Given the description of an element on the screen output the (x, y) to click on. 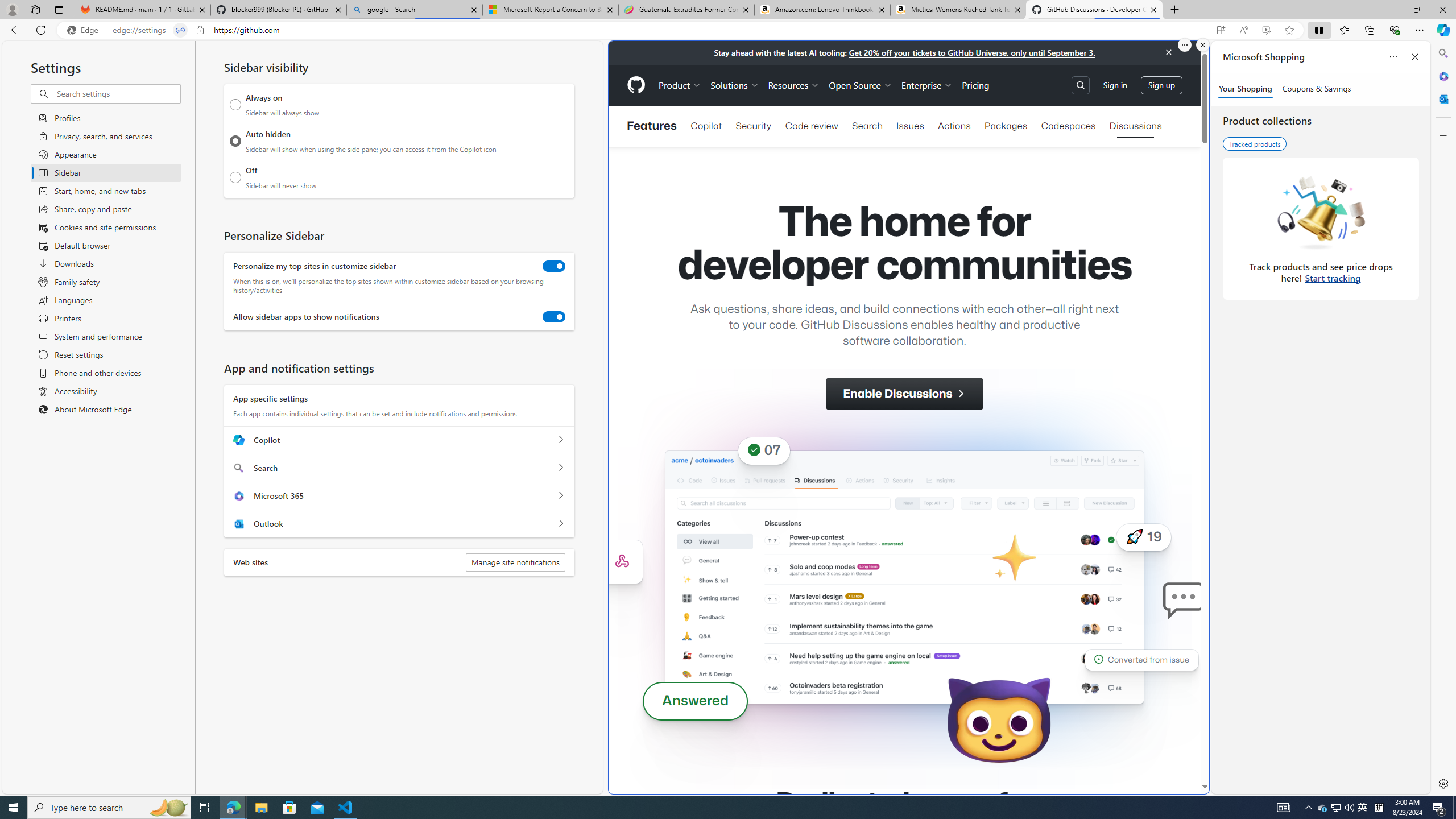
Enable Discussions  (903, 393)
Solutions (735, 84)
Enterprise (927, 84)
Actions (954, 125)
Discussions UI (904, 576)
Allow sidebar apps to show notifications (553, 316)
Security (753, 125)
Manage site notifications (514, 562)
